Given the description of an element on the screen output the (x, y) to click on. 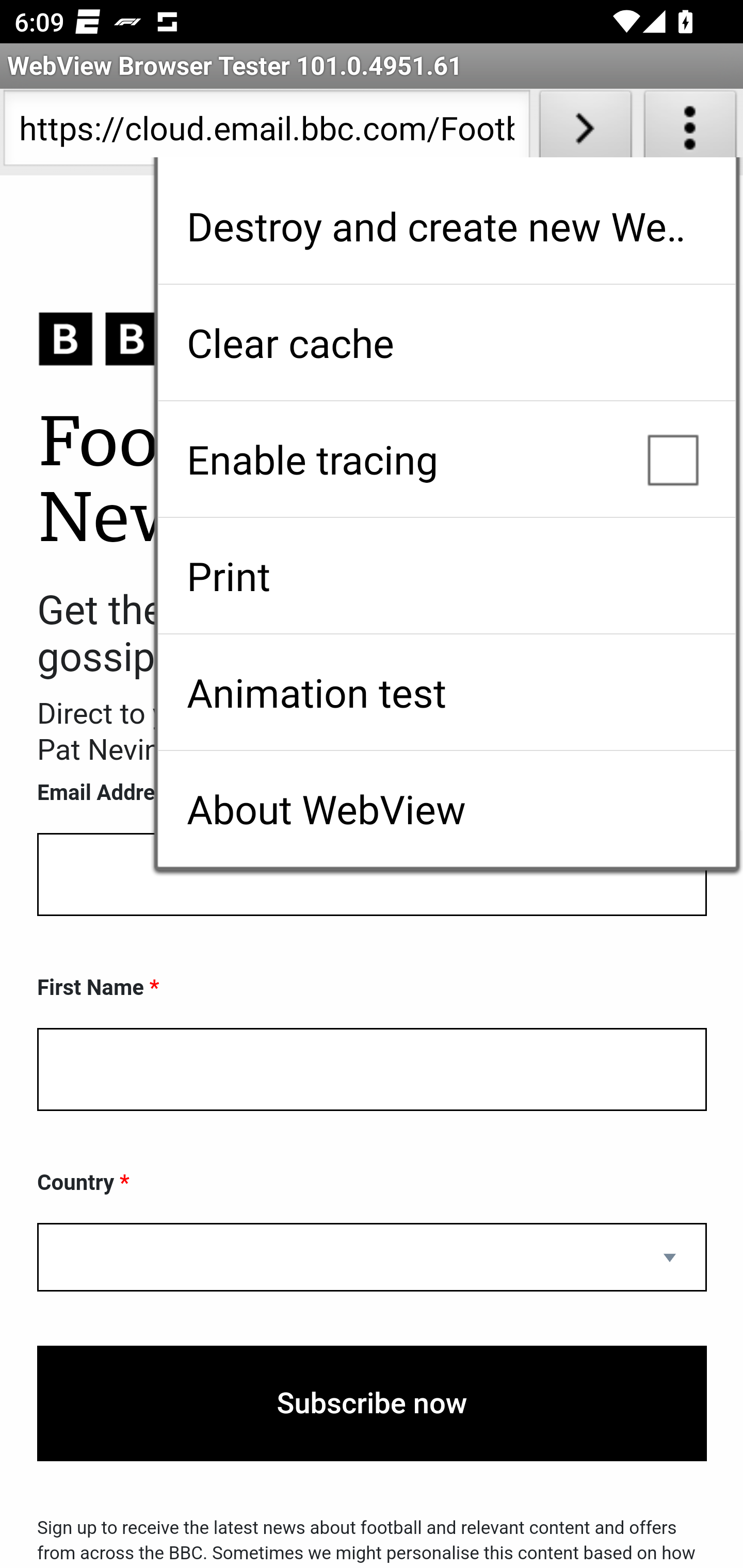
Destroy and create new WebView (446, 225)
Clear cache (446, 342)
Enable tracing (446, 459)
Print (446, 575)
Animation test (446, 692)
About WebView (446, 809)
